Given the description of an element on the screen output the (x, y) to click on. 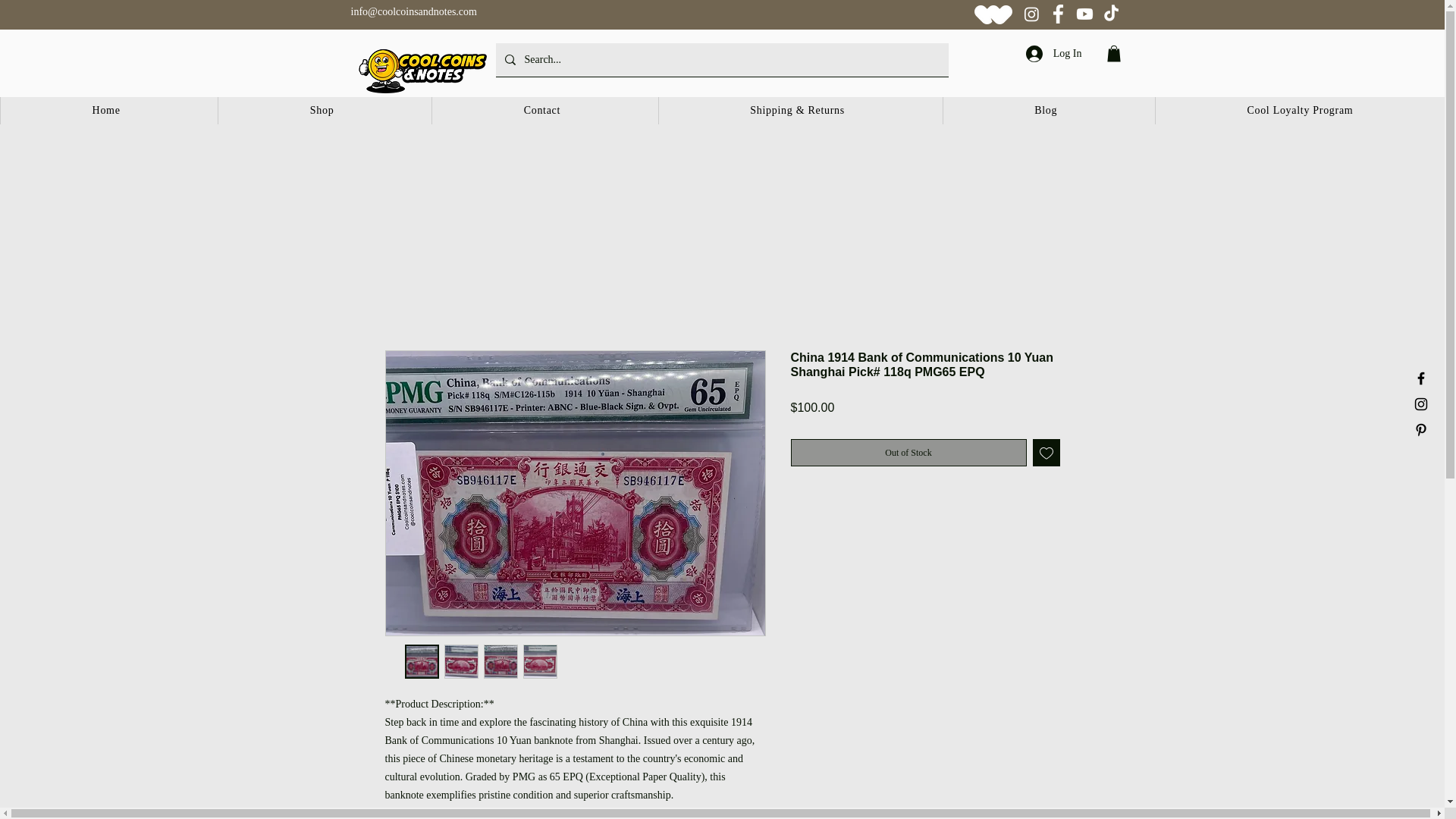
Blog (1045, 110)
Out of Stock (908, 452)
Contact (541, 110)
Cool Loyalty Program (1299, 110)
Shop (320, 110)
Home (105, 110)
Log In (1053, 53)
